Given the description of an element on the screen output the (x, y) to click on. 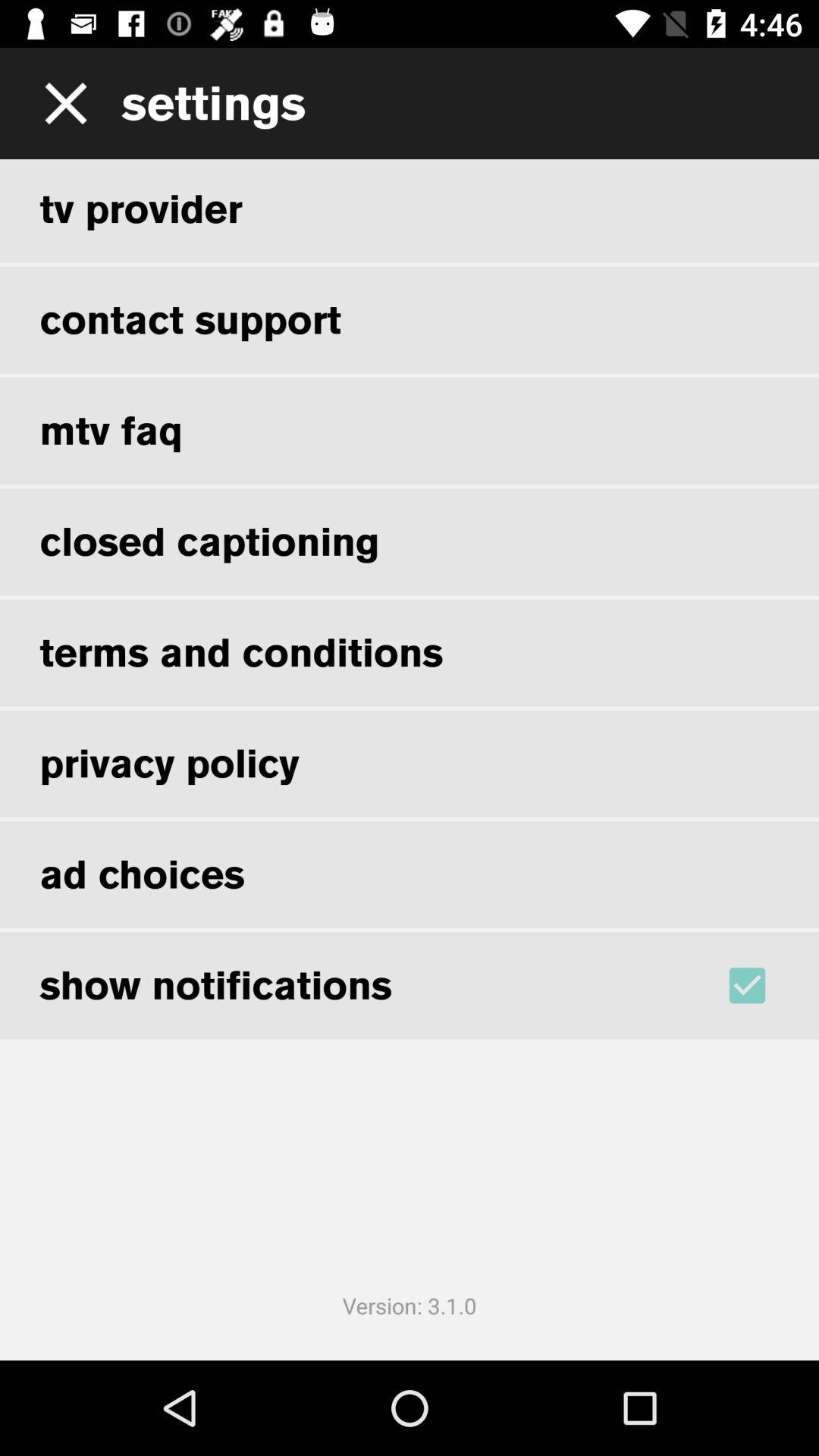
choose icon above tv provider (60, 103)
